Given the description of an element on the screen output the (x, y) to click on. 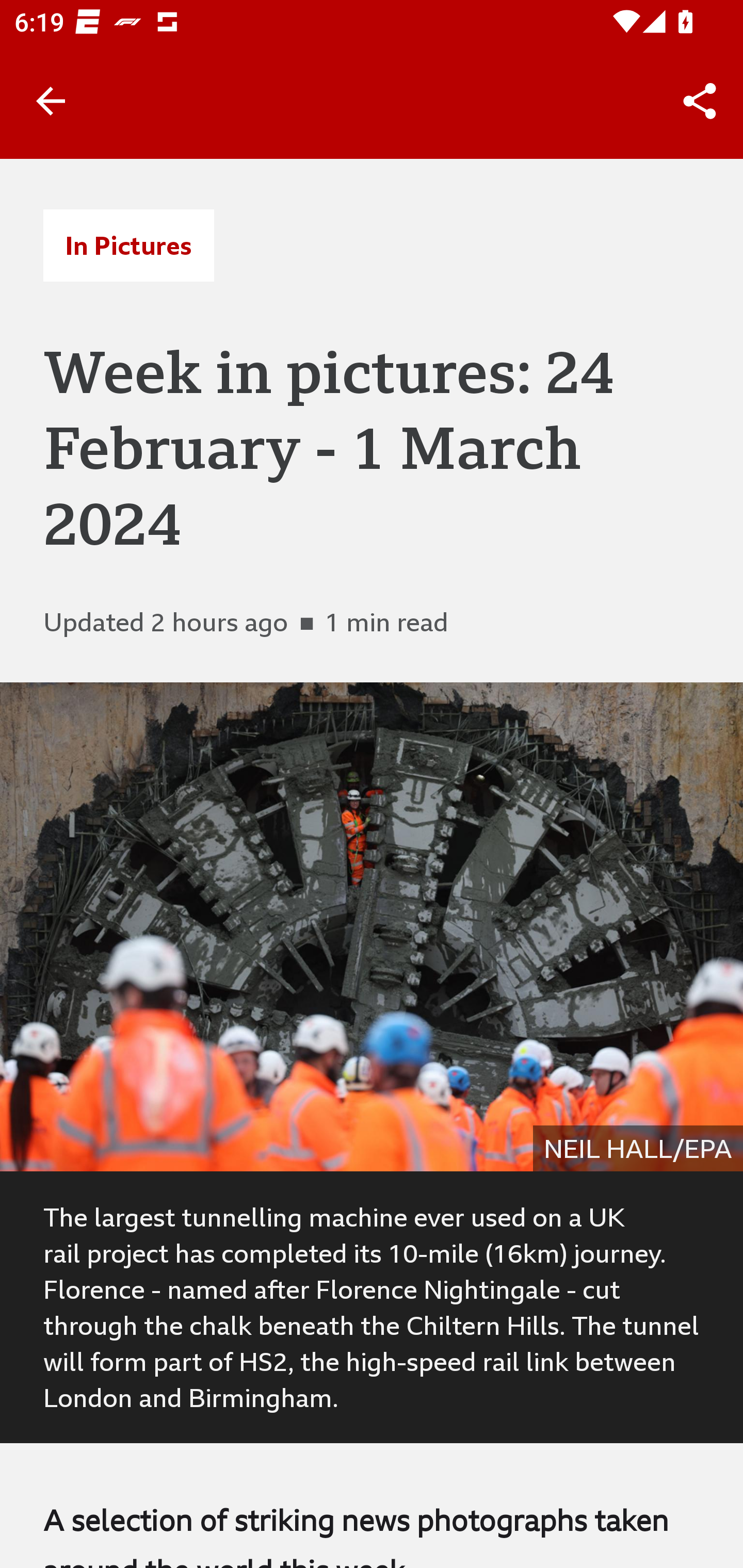
Back (50, 101)
Share (699, 101)
In Pictures (128, 245)
